Given the description of an element on the screen output the (x, y) to click on. 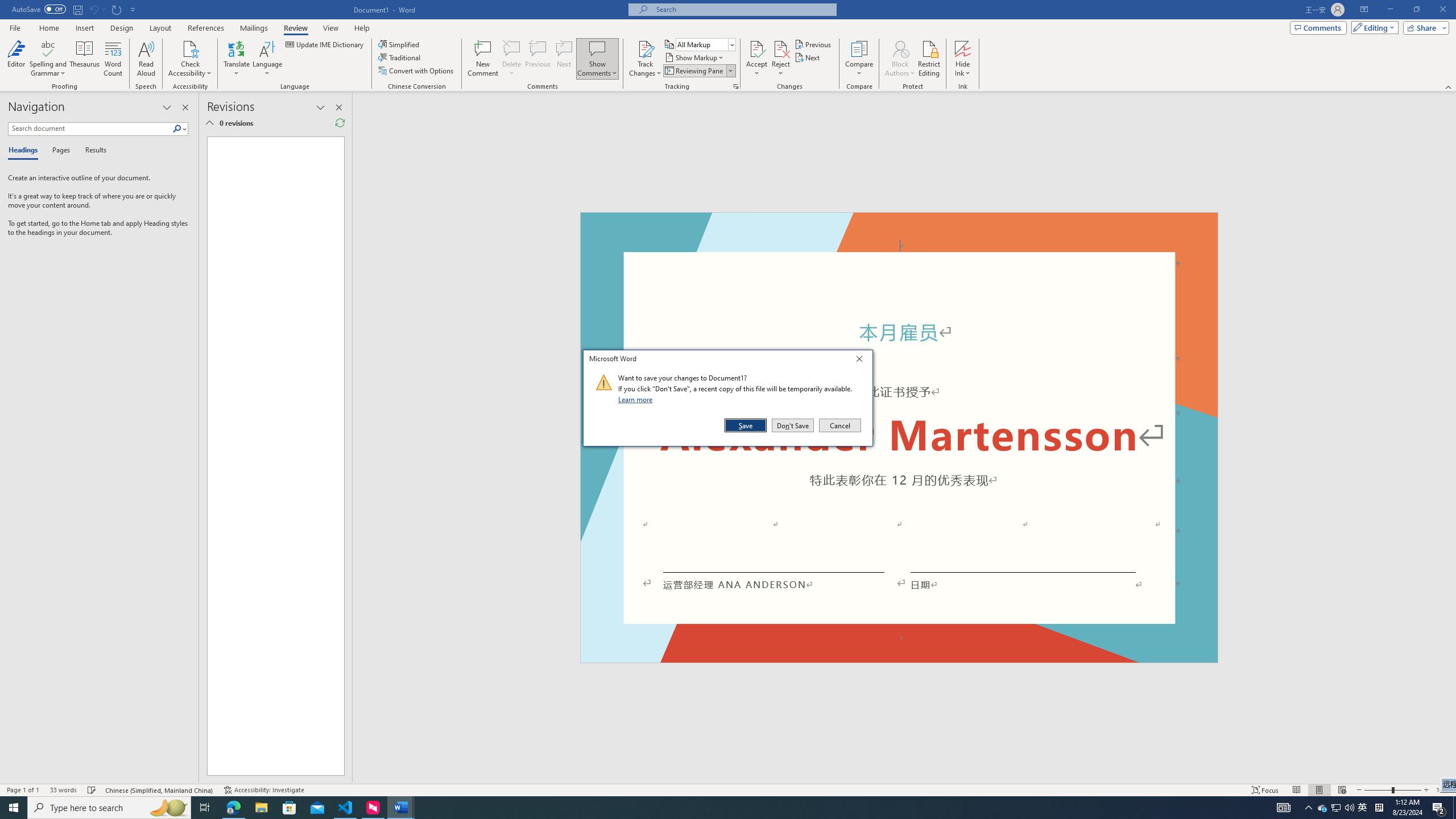
Translate (236, 58)
Type here to search (108, 807)
Learn more (636, 399)
